Given the description of an element on the screen output the (x, y) to click on. 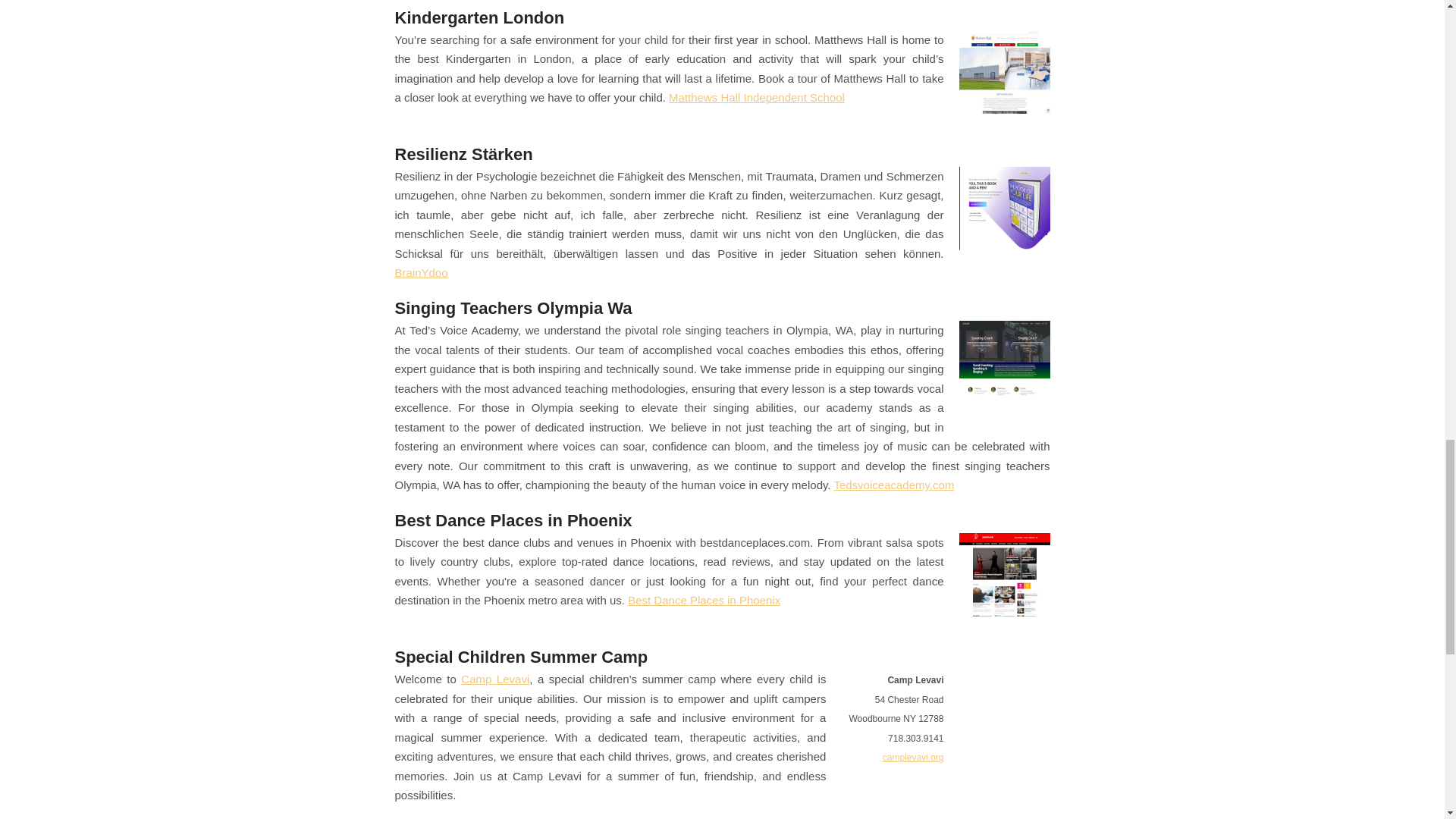
Special Children Summer Camp (520, 656)
Singing Teachers Olympia Wa (512, 307)
Special Children Summer Camp (520, 656)
Best Dance Places in Phoenix (512, 520)
Tedsvoiceacademy.com (892, 484)
Singing Teachers Olympia Wa (512, 307)
Kindergarten London (479, 17)
Matthews Hall Independent School (756, 97)
Kindergarten London (479, 17)
Best Dance Places in Phoenix (703, 599)
Best Dance Places in Phoenix (512, 520)
BrainYdoo (420, 272)
